Given the description of an element on the screen output the (x, y) to click on. 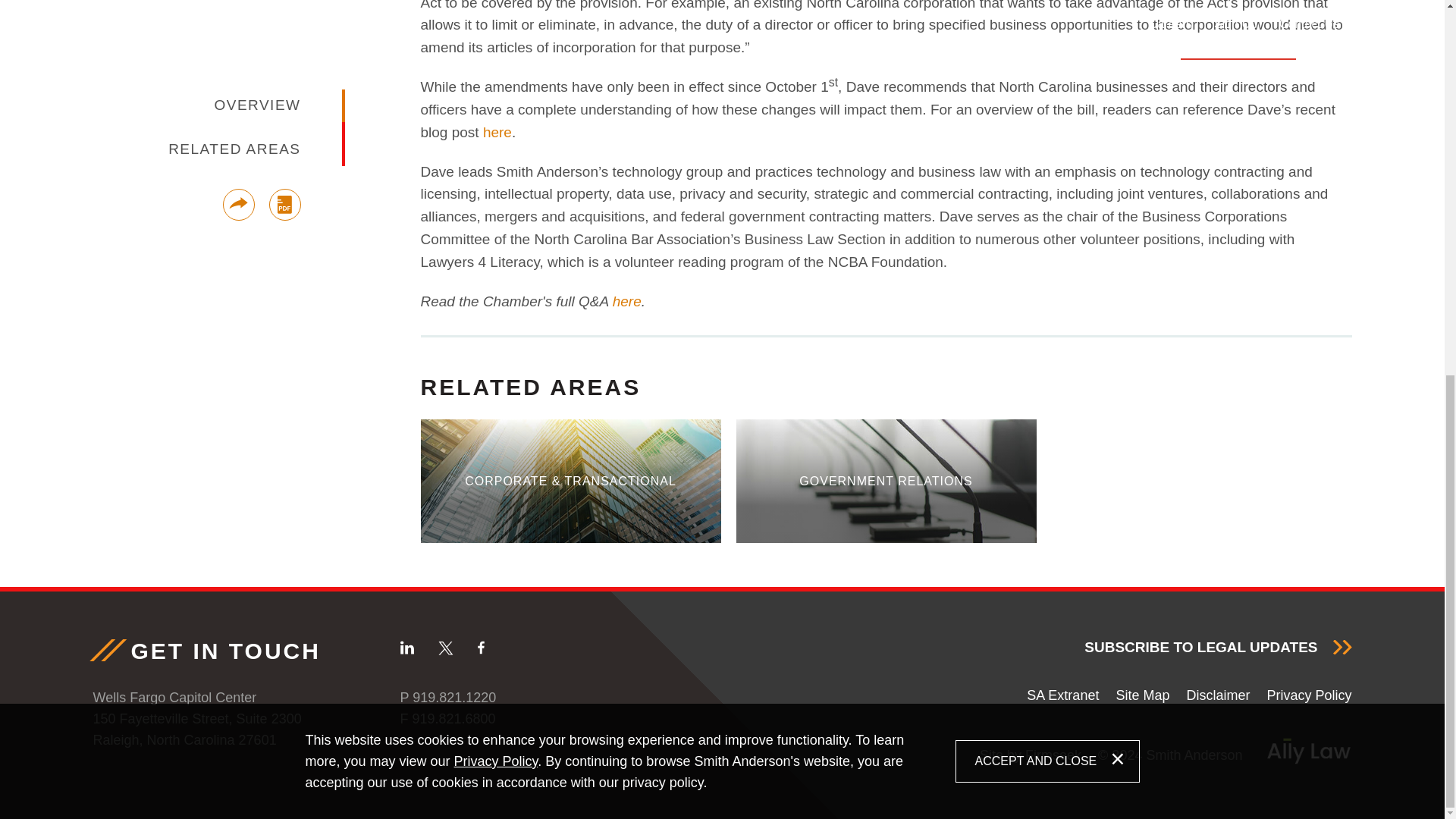
Linkedin (406, 647)
Twitter (445, 648)
